Given the description of an element on the screen output the (x, y) to click on. 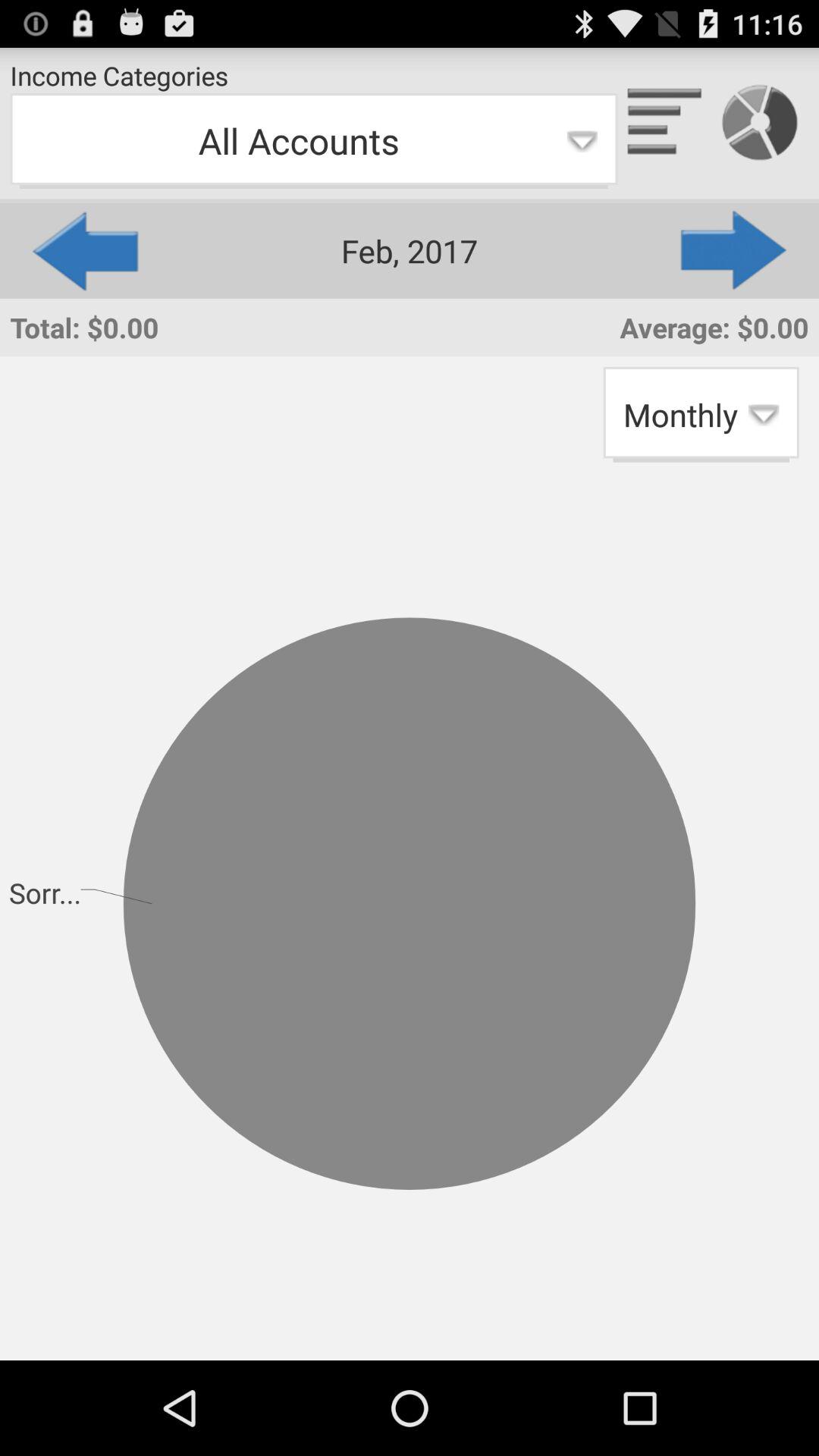
launch the icon above the total: $0.00 icon (83, 250)
